Given the description of an element on the screen output the (x, y) to click on. 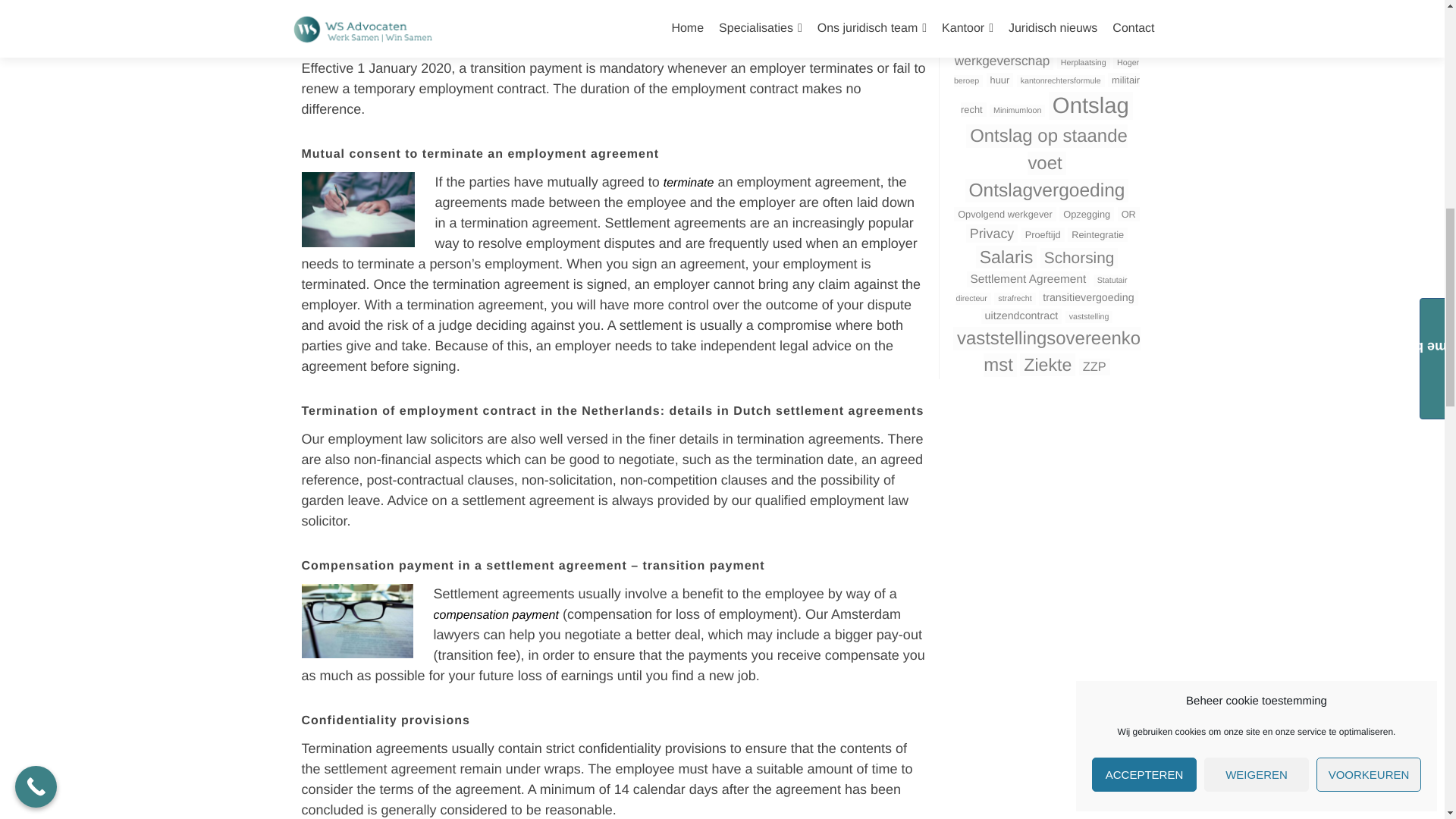
termination of employment contract netherlands (489, 410)
transition payment (704, 565)
